Given the description of an element on the screen output the (x, y) to click on. 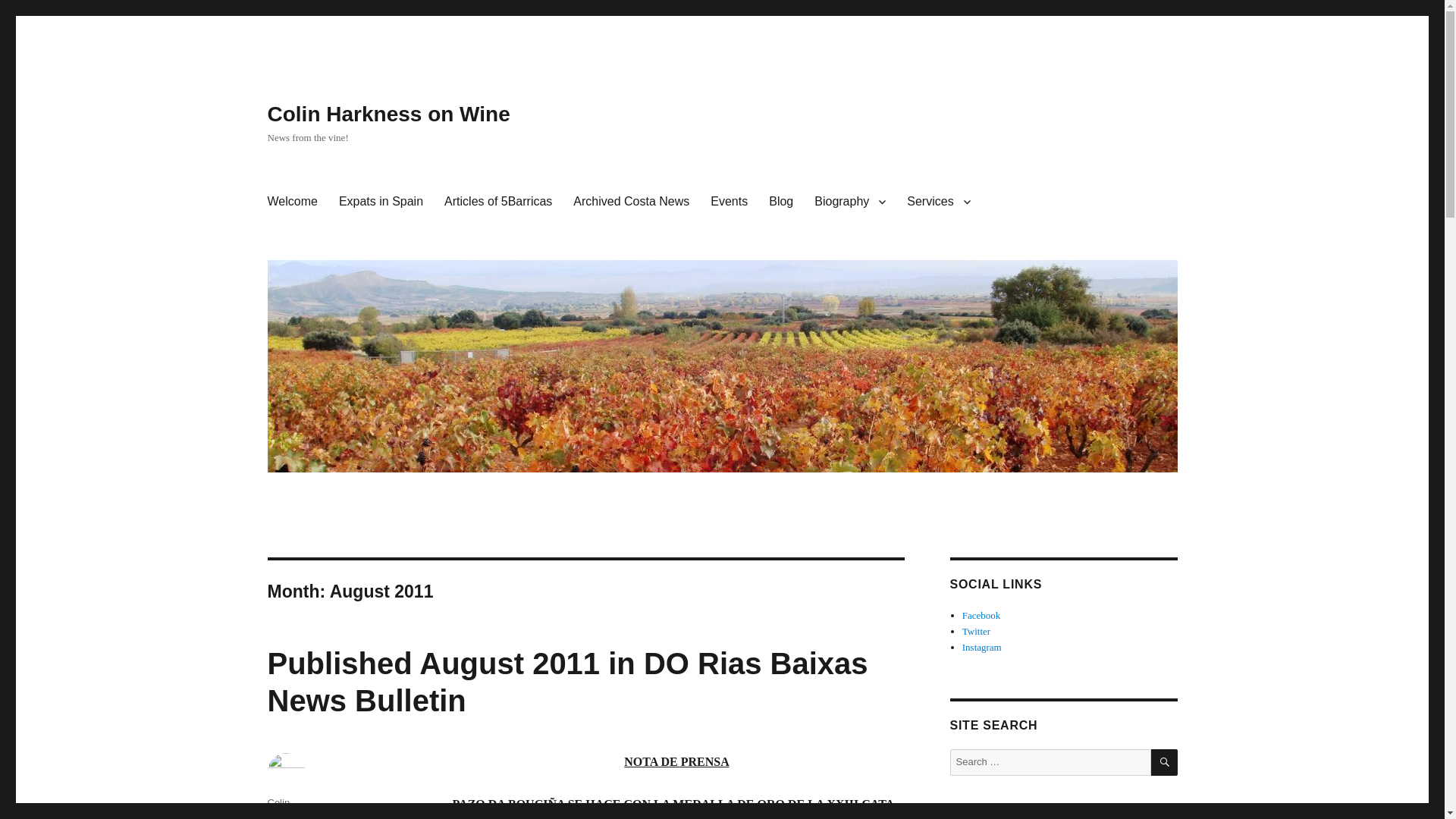
Colin (277, 802)
Blog (780, 201)
Facebook (981, 614)
Twitter (976, 631)
Events (729, 201)
Published August 2011 in DO Rias Baixas News Bulletin (566, 682)
Colin Harkness on Wine (387, 114)
Instagram (981, 646)
August 12, 2011 (302, 818)
Archived Costa News (631, 201)
